Given the description of an element on the screen output the (x, y) to click on. 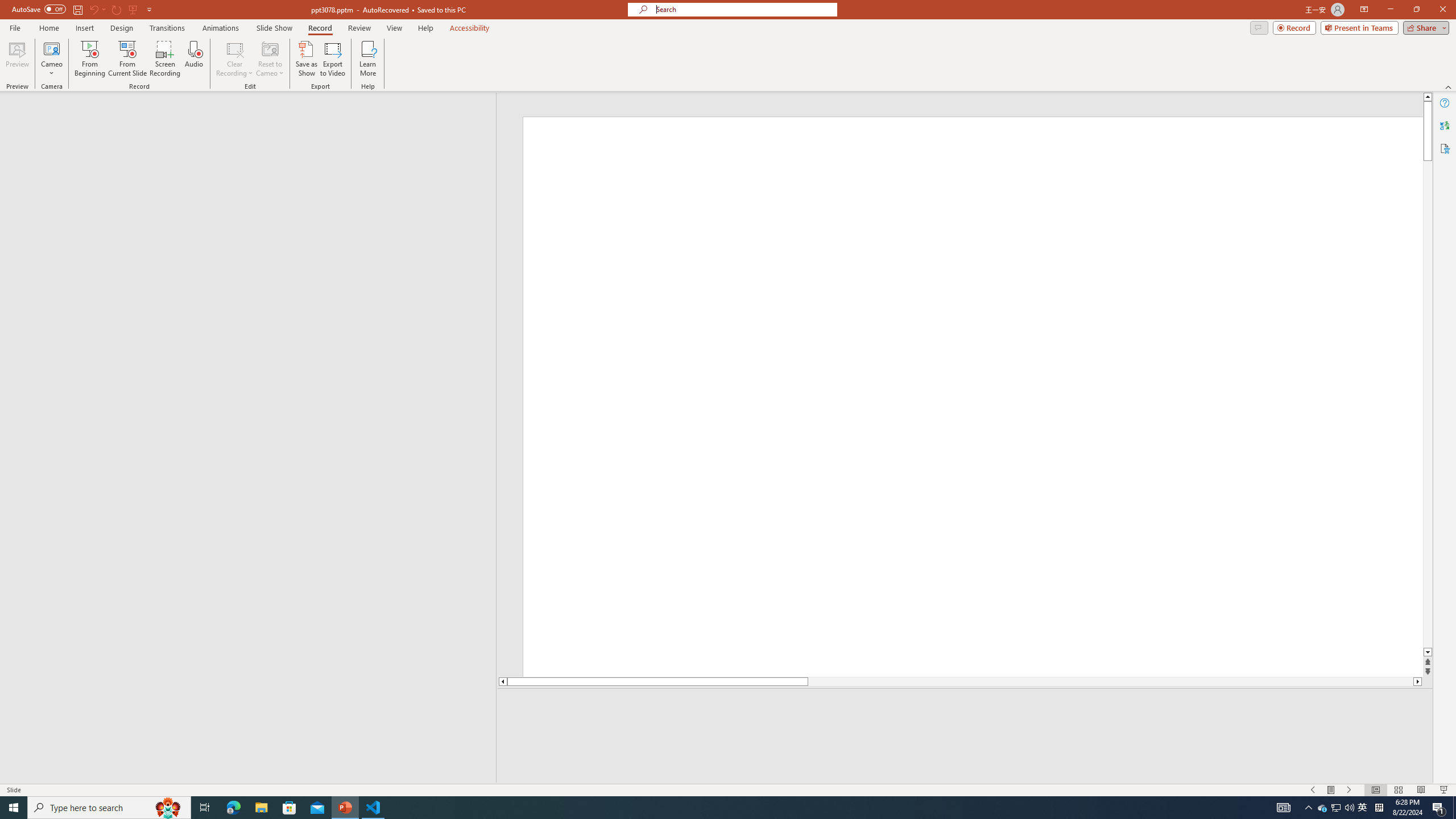
Learn More (368, 58)
Reset to Cameo (269, 58)
Slide Show Previous On (1313, 790)
